Given the description of an element on the screen output the (x, y) to click on. 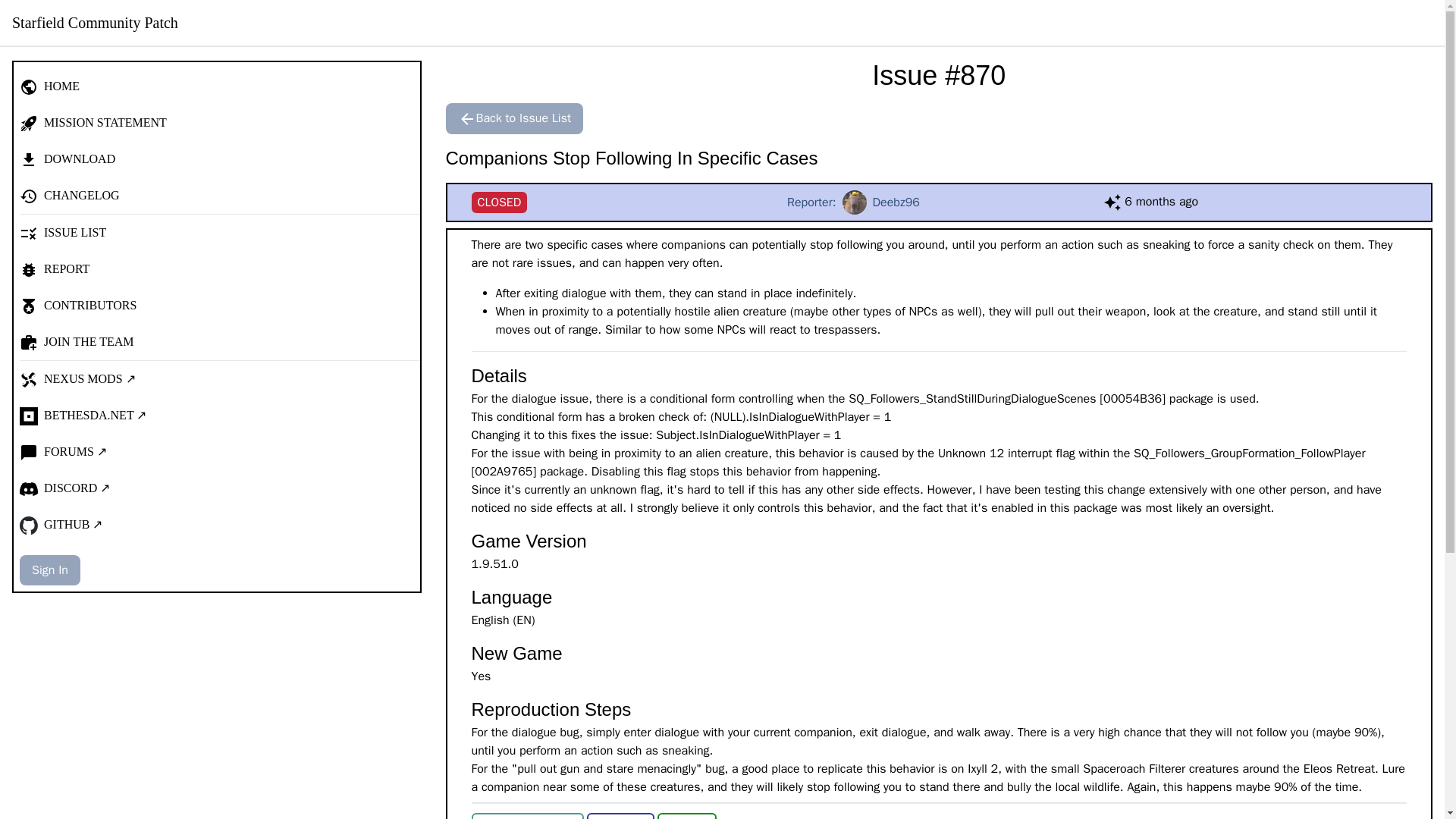
Sign In (50, 570)
REPORT (220, 268)
DOWNLOAD (220, 158)
MISSION STATEMENT (220, 122)
HOME (220, 85)
Back to Issue List (938, 202)
ISSUE LIST (514, 118)
A fix for this issue is ready for merging and testing (220, 232)
CHANGELOG (687, 816)
JOIN THE TEAM (220, 195)
CONTRIBUTORS (220, 341)
